Given the description of an element on the screen output the (x, y) to click on. 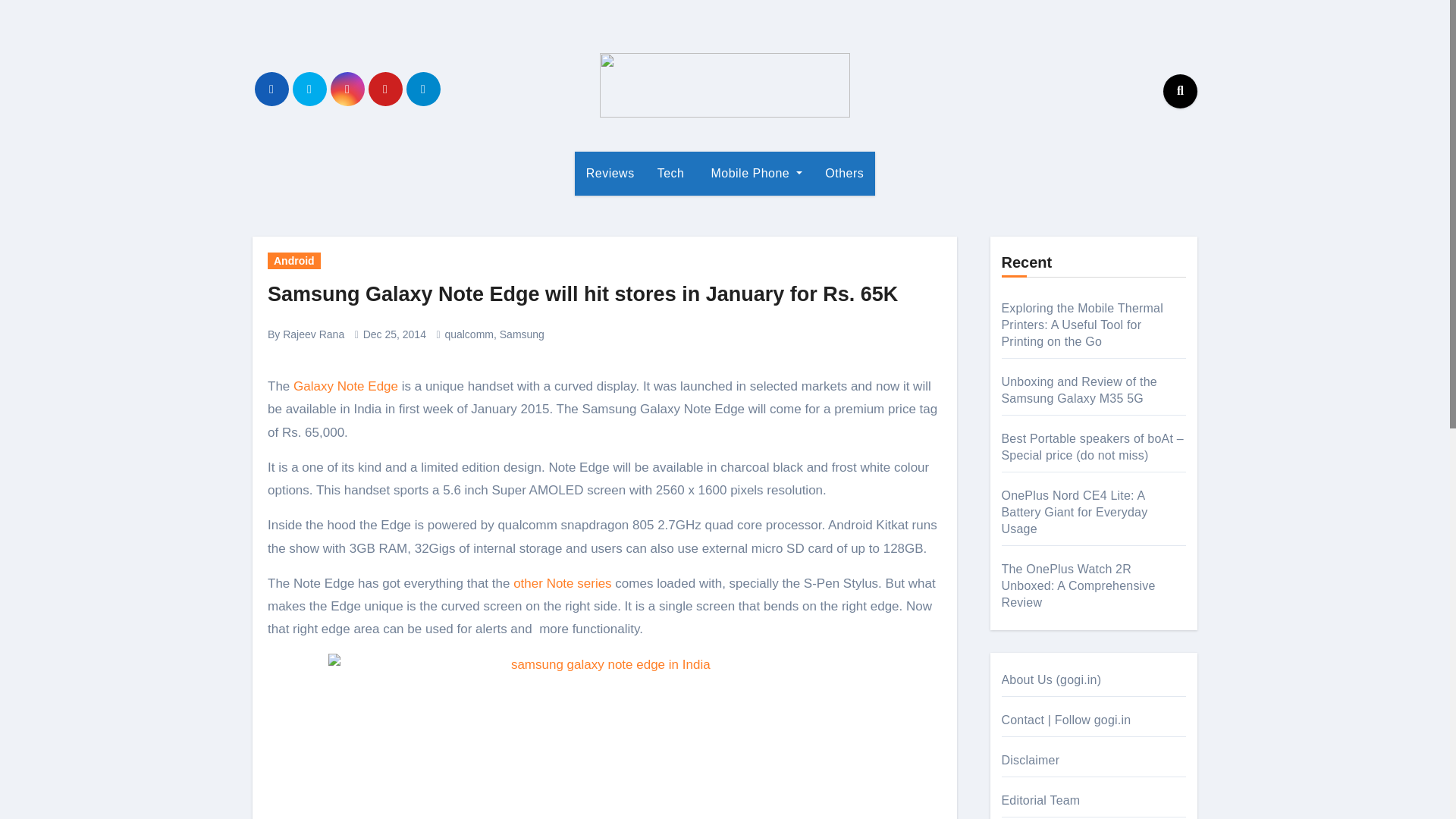
Others (844, 173)
Reviews (610, 173)
Tech (670, 173)
Reviews (610, 173)
Samsung Note 4, Note Edge and standalone Gear S announced (345, 386)
Mobile Phone Section (754, 173)
By Rajeev Rana (305, 334)
Tech (670, 173)
Others (844, 173)
 Mobile Phone (754, 173)
Android (293, 260)
